Given the description of an element on the screen output the (x, y) to click on. 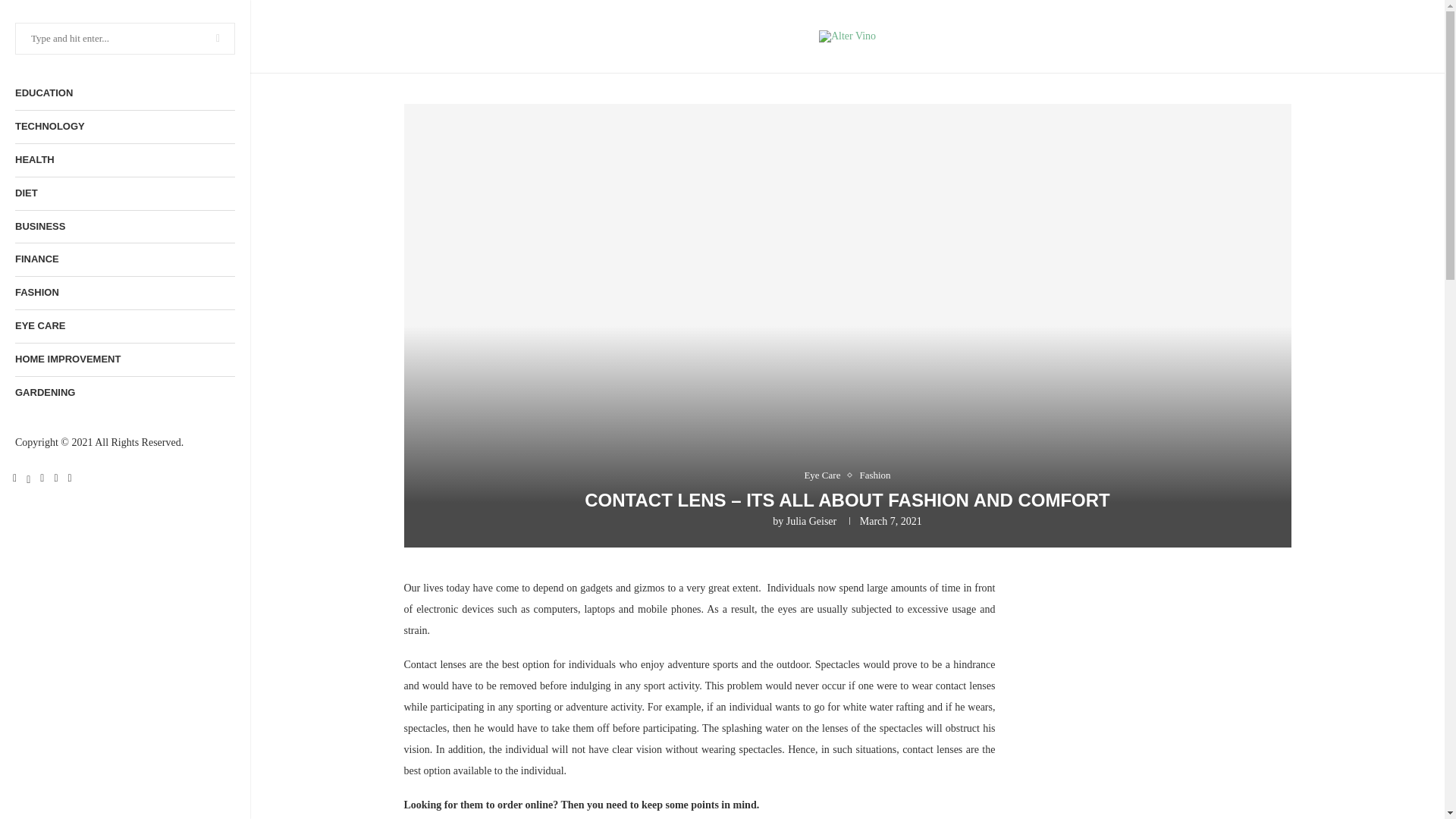
Julia Geiser (810, 521)
FASHION (124, 292)
EDUCATION (124, 92)
TECHNOLOGY (124, 126)
EYE CARE (124, 326)
DIET (124, 193)
HOME IMPROVEMENT (124, 359)
Fashion (874, 475)
Eye Care (825, 475)
BUSINESS (124, 226)
